Given the description of an element on the screen output the (x, y) to click on. 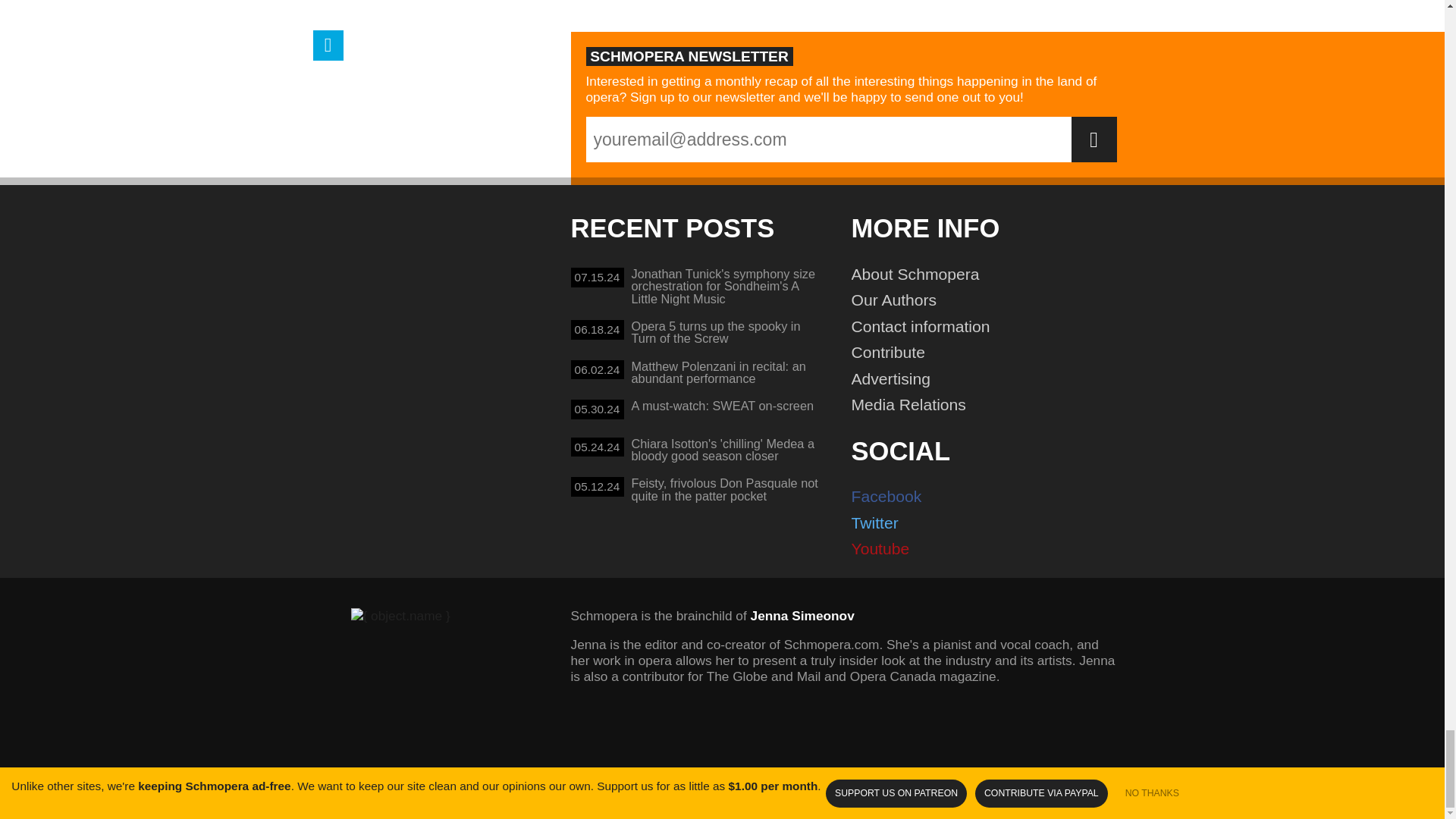
Back to home page (696, 334)
